Given the description of an element on the screen output the (x, y) to click on. 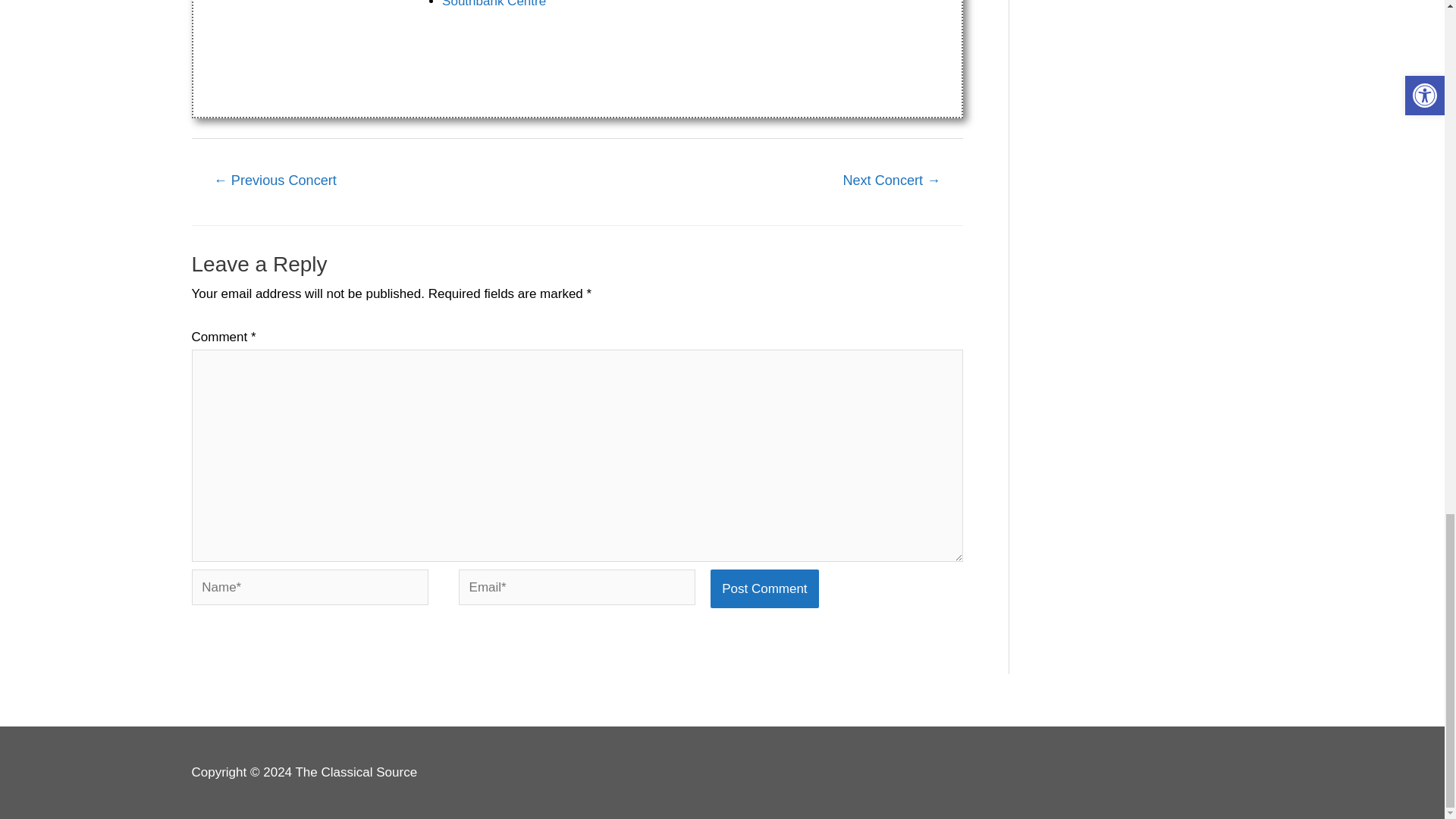
Post Comment (764, 589)
LPO Richard Strauss (891, 182)
Post Comment (764, 589)
Southbank Centre (494, 4)
